Given the description of an element on the screen output the (x, y) to click on. 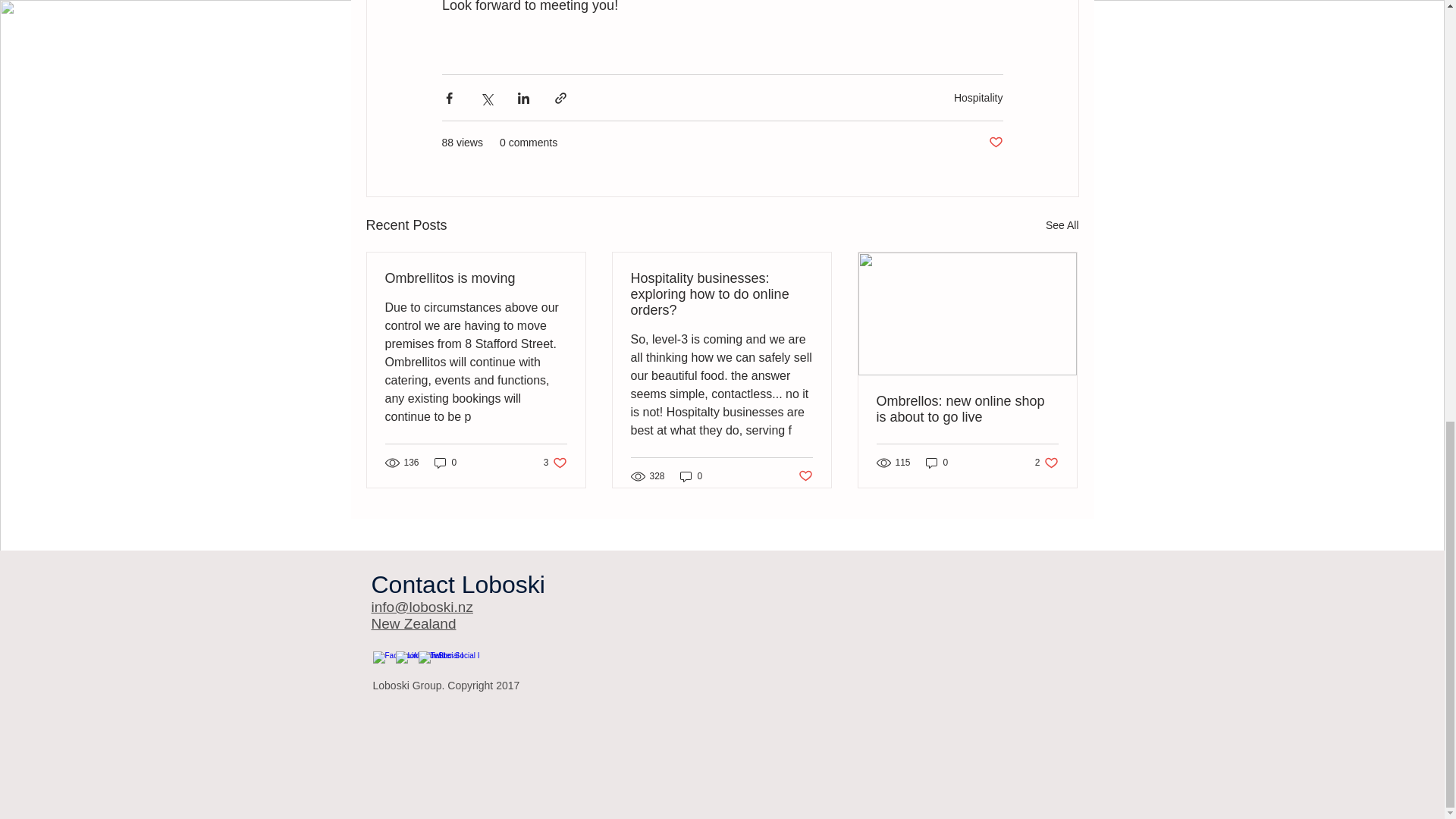
0 (937, 462)
See All (1061, 225)
Hospitality businesses: exploring how to do online orders? (555, 462)
0 (721, 294)
Ombrellitos is moving (691, 476)
Ombrellos: new online shop is about to go live (476, 278)
Post not marked as liked (967, 409)
Post not marked as liked (804, 476)
0 (995, 142)
Hospitality (445, 462)
